Given the description of an element on the screen output the (x, y) to click on. 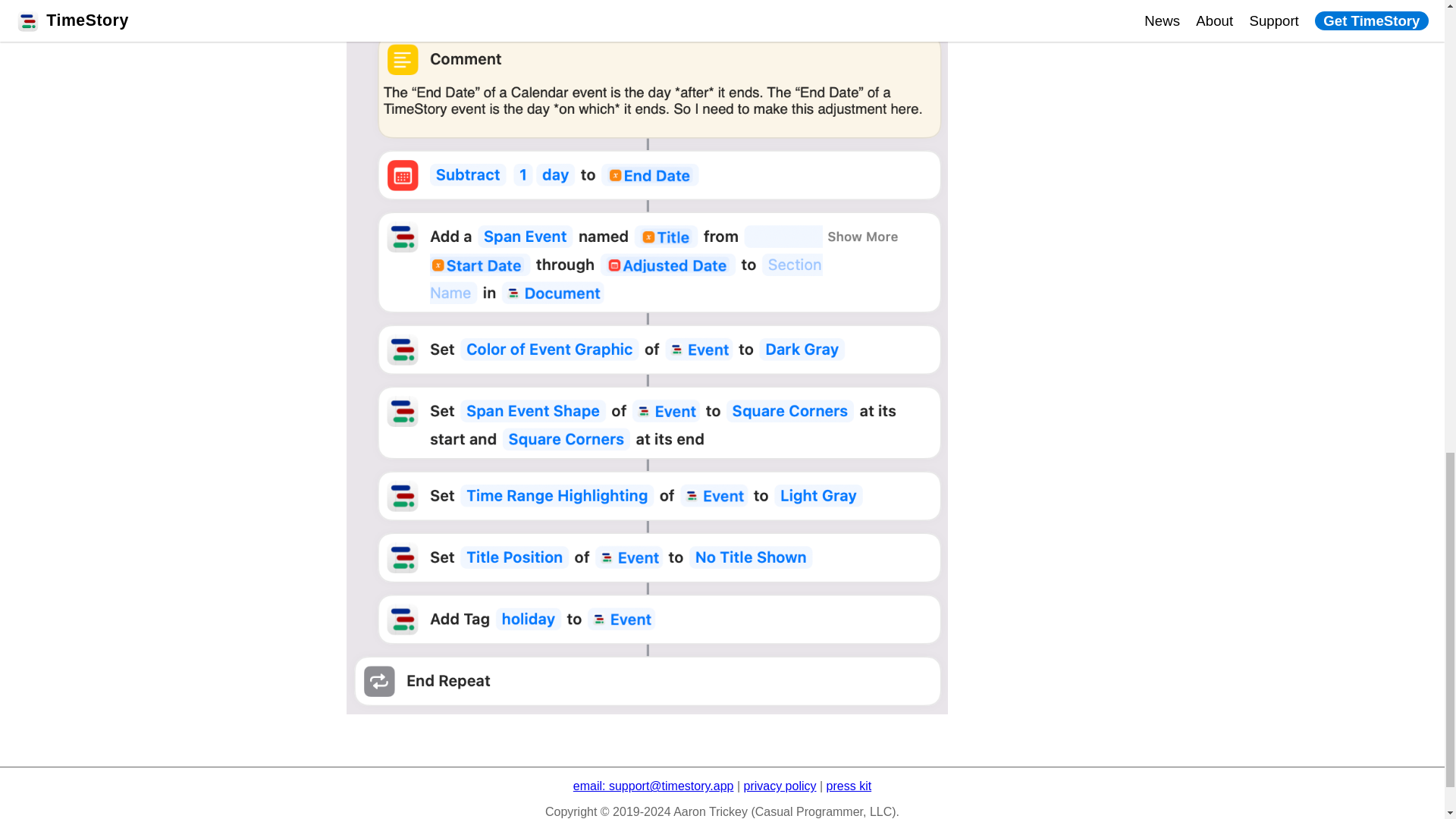
privacy policy (778, 785)
press kit (849, 785)
